Given the description of an element on the screen output the (x, y) to click on. 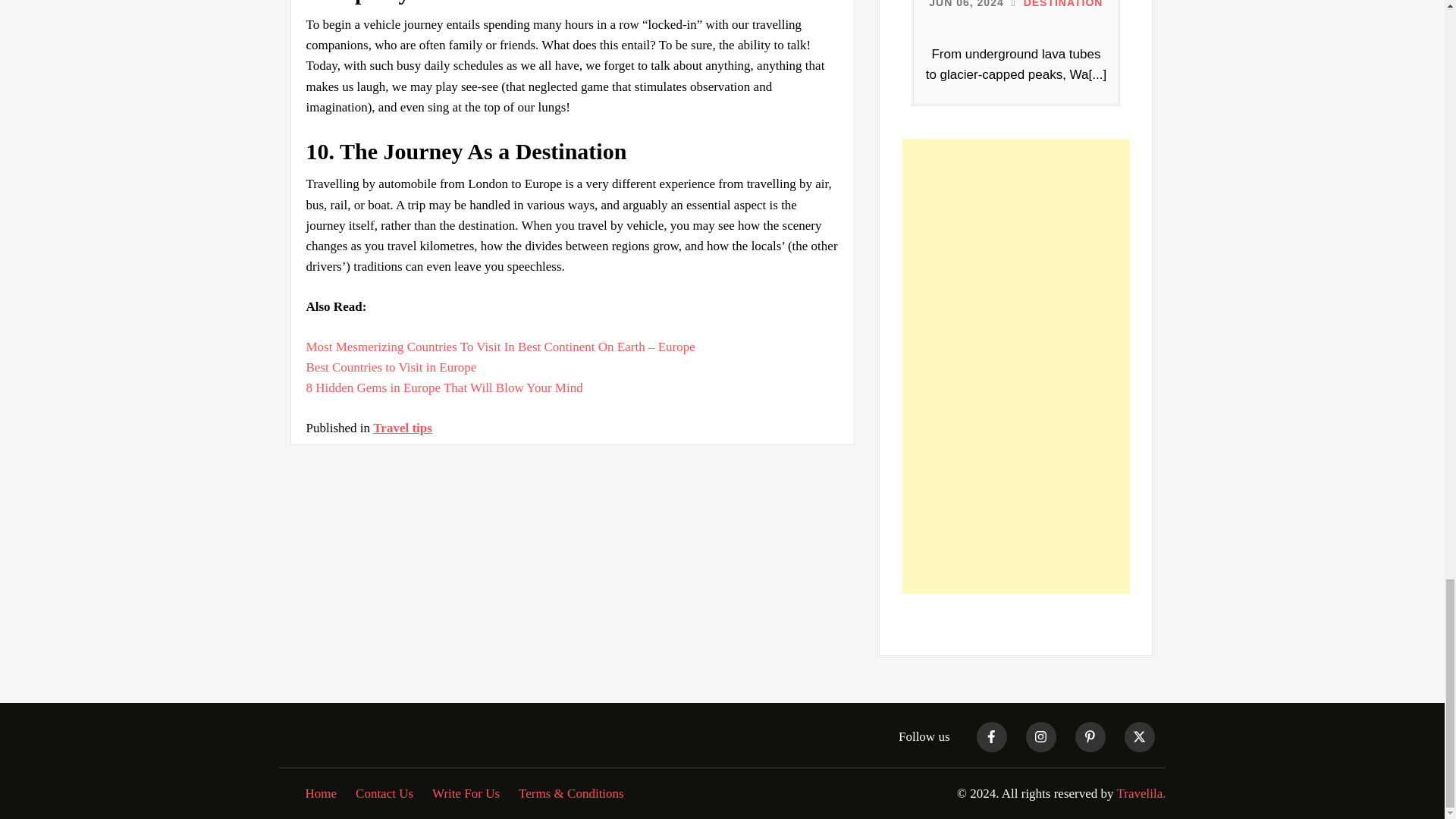
Travel tips (402, 427)
8 Hidden Gems in Europe That Will Blow Your Mind (444, 387)
A Complete Guide to Plan Your Maui Trip (500, 346)
Pinterest (1138, 738)
Best Countries to Visit in Europe (391, 367)
